Given the description of an element on the screen output the (x, y) to click on. 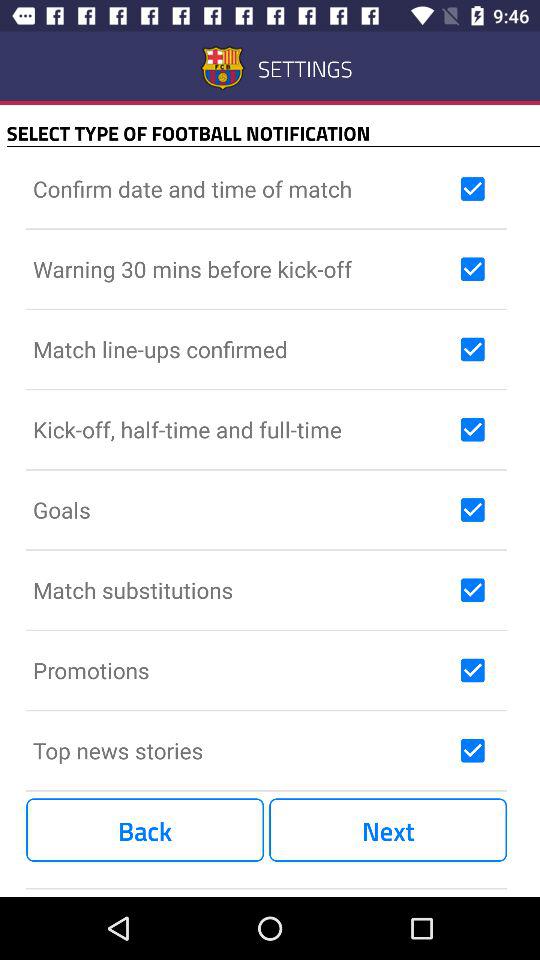
open match line ups (242, 349)
